Given the description of an element on the screen output the (x, y) to click on. 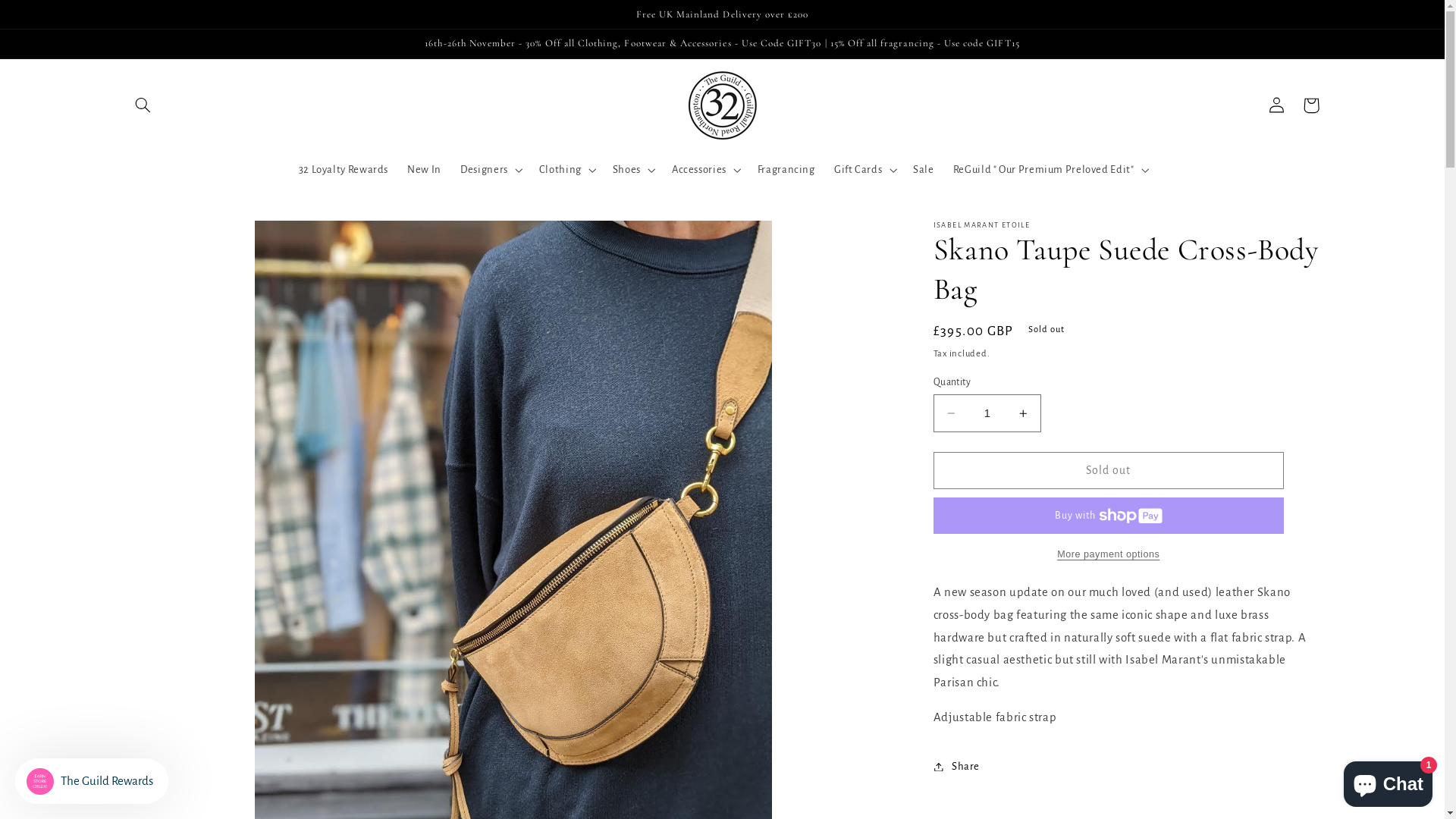
The Guild Rewards Element type: text (91, 780)
Increase quantity for Skano Taupe Suede Cross-Body Bag Element type: text (1023, 412)
Decrease quantity for Skano Taupe Suede Cross-Body Bag Element type: text (951, 412)
32 Loyalty Rewards Element type: text (343, 170)
Shopify online store chat Element type: hover (1388, 780)
Sale Element type: text (923, 170)
Cart Element type: text (1310, 104)
Skip to product information Element type: text (172, 238)
New In Element type: text (424, 170)
Sold out Element type: text (1108, 470)
More payment options Element type: text (1108, 554)
Fragrancing Element type: text (785, 170)
Log in Element type: text (1275, 104)
